Given the description of an element on the screen output the (x, y) to click on. 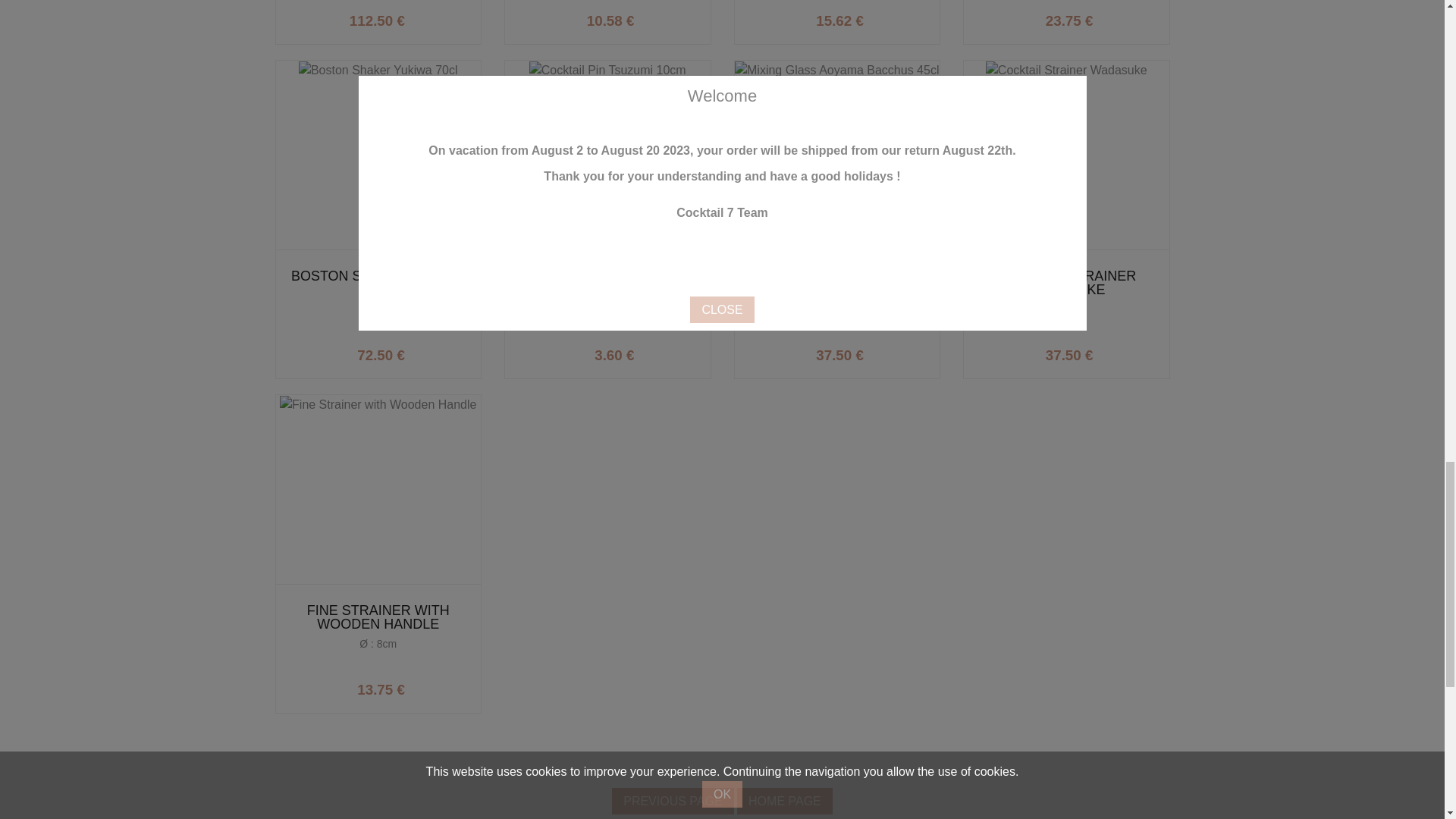
More info (653, 17)
More info (882, 17)
Add to cart (424, 351)
More info (424, 17)
Add to cart (882, 17)
More info (424, 351)
Add to cart (1111, 17)
More info (1111, 17)
More info (653, 351)
Add to cart (653, 17)
